Given the description of an element on the screen output the (x, y) to click on. 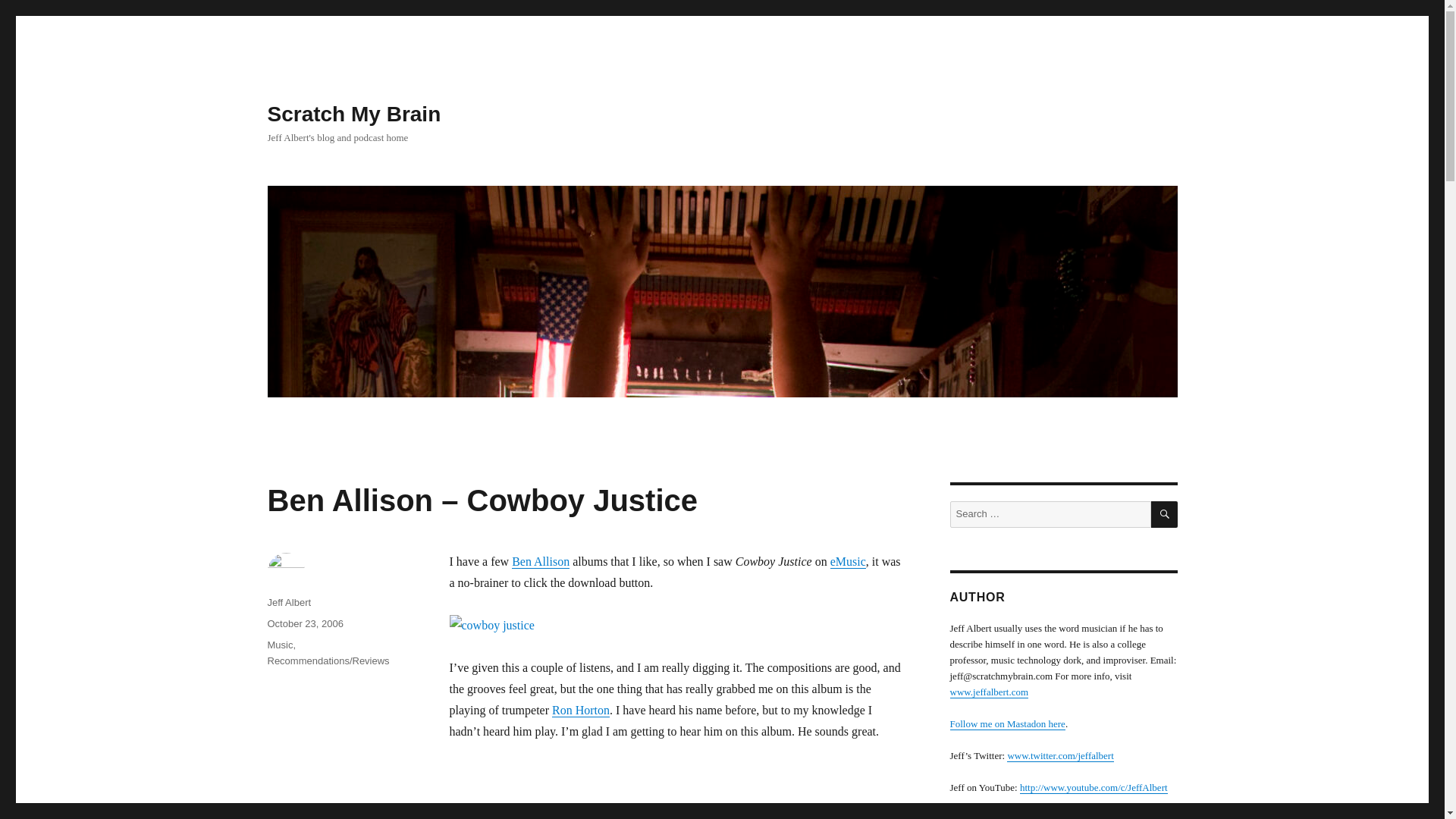
www.jeffalbert.com (988, 691)
Music (279, 644)
Jeff Albert (288, 602)
Ron Horton (580, 709)
Follow me on Mastadon here (1006, 723)
Ben Allison (540, 561)
October 23, 2006 (304, 623)
SEARCH (1164, 514)
eMusic (847, 561)
Scratch My Brain (353, 114)
